Given the description of an element on the screen output the (x, y) to click on. 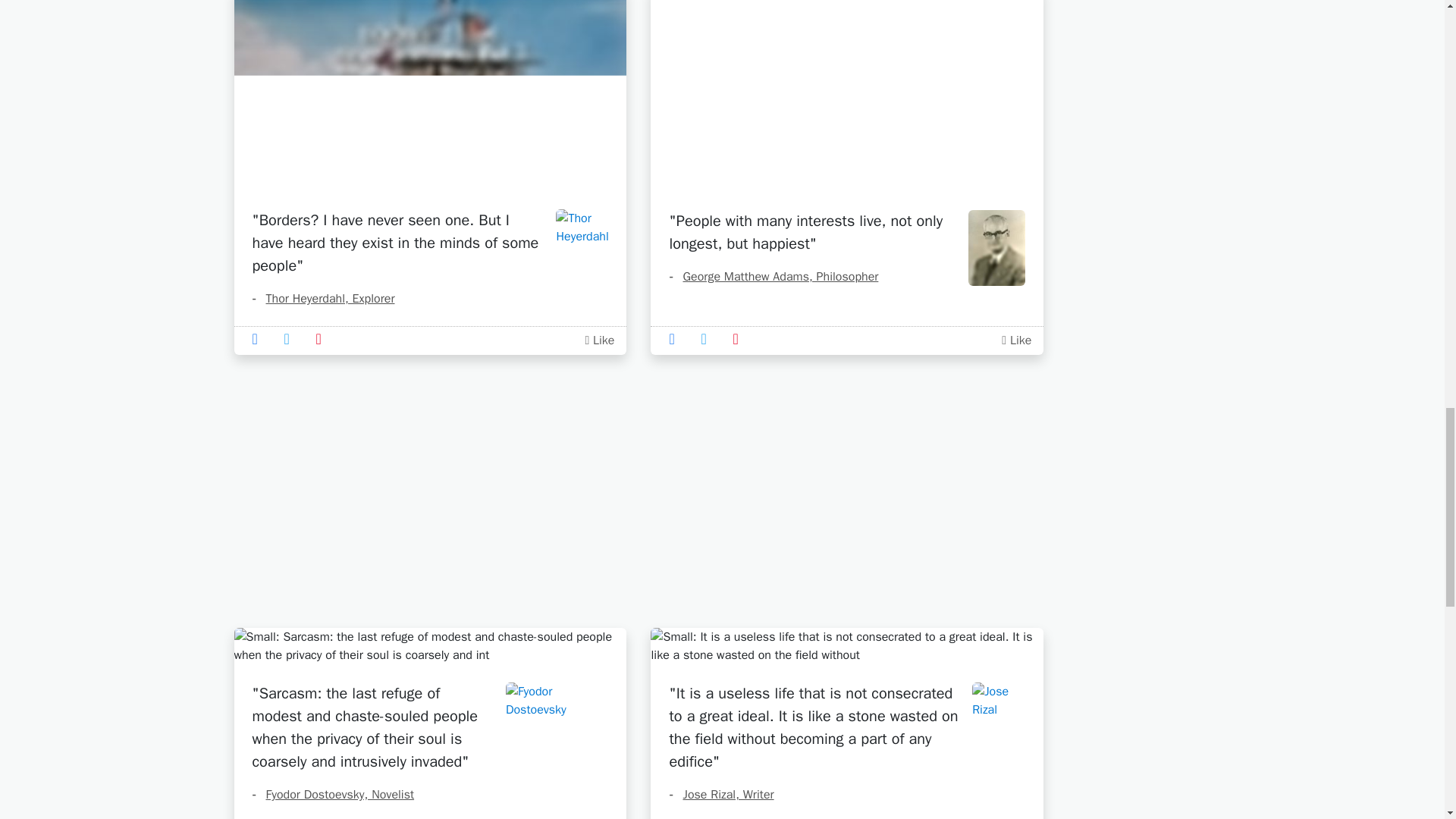
Share on Twitter (290, 338)
Jose Rizal, Writer (720, 794)
Fyodor Dostoevsky, Novelist (332, 794)
Share on Facebook (258, 338)
Thor Heyerdahl, Explorer (322, 298)
George Matthew Adams, Philosopher (772, 276)
Share on Pinterest (322, 338)
